Given the description of an element on the screen output the (x, y) to click on. 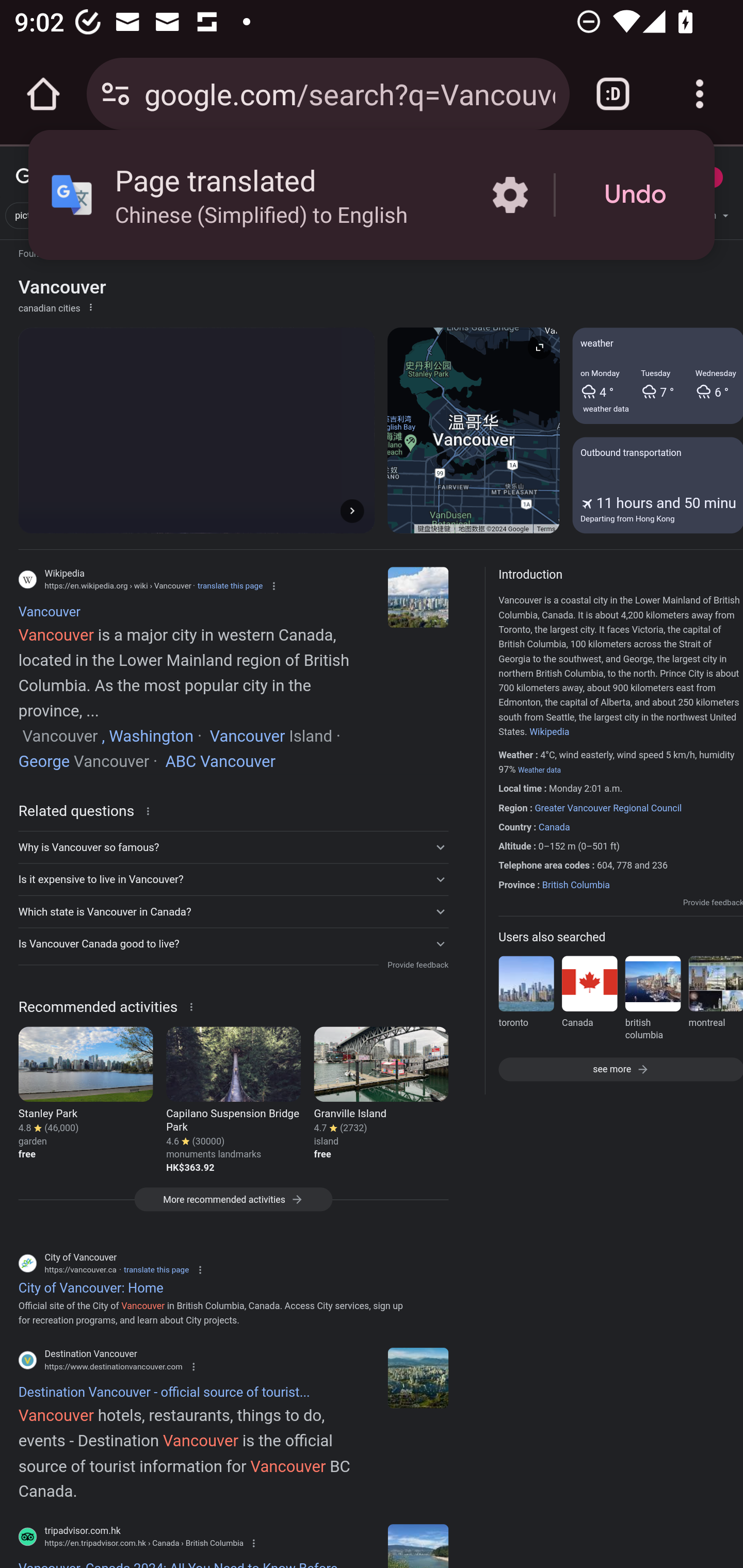
Open the home page (43, 93)
Connection is secure (115, 93)
Switch or close tabs (612, 93)
Customize and control Google Chrome (699, 93)
Undo (634, 195)
More options in the Page translated (509, 195)
more options (90, 306)
Expand map (539, 346)
weather data (606, 407)
next picture (352, 510)
Vancouver (417, 597)
translate this page (229, 585)
%E6%BA%AB%E5%93%A5%E8%8F%AF (620, 666)
Wikipedia (549, 730)
 , Washington (145, 738)
‎ Vancouver (245, 738)
‎ George (43, 763)
‎ ABC Vancouver (218, 763)
Weather data (538, 769)
Greater Vancouver Regional Council (607, 807)
Details about this result (150, 809)
Canada (553, 826)
Why is Vancouver so famous? (232, 846)
Is it expensive to live in Vancouver? (232, 878)
British Columbia (575, 884)
Which state is Vancouver in Canada? (232, 910)
Provide feedback (712, 901)
Is Vancouver Canada good to live? (232, 942)
toronto (526, 1000)
Canada (588, 1000)
british columbia (652, 1000)
montreal (715, 1000)
Provide feedback (417, 964)
Details about this result (193, 1006)
查看更多 see more see more (620, 1068)
More recommended activities (232, 1204)
translate this page (155, 1269)
www.destinationvancouver (417, 1377)
